Given the description of an element on the screen output the (x, y) to click on. 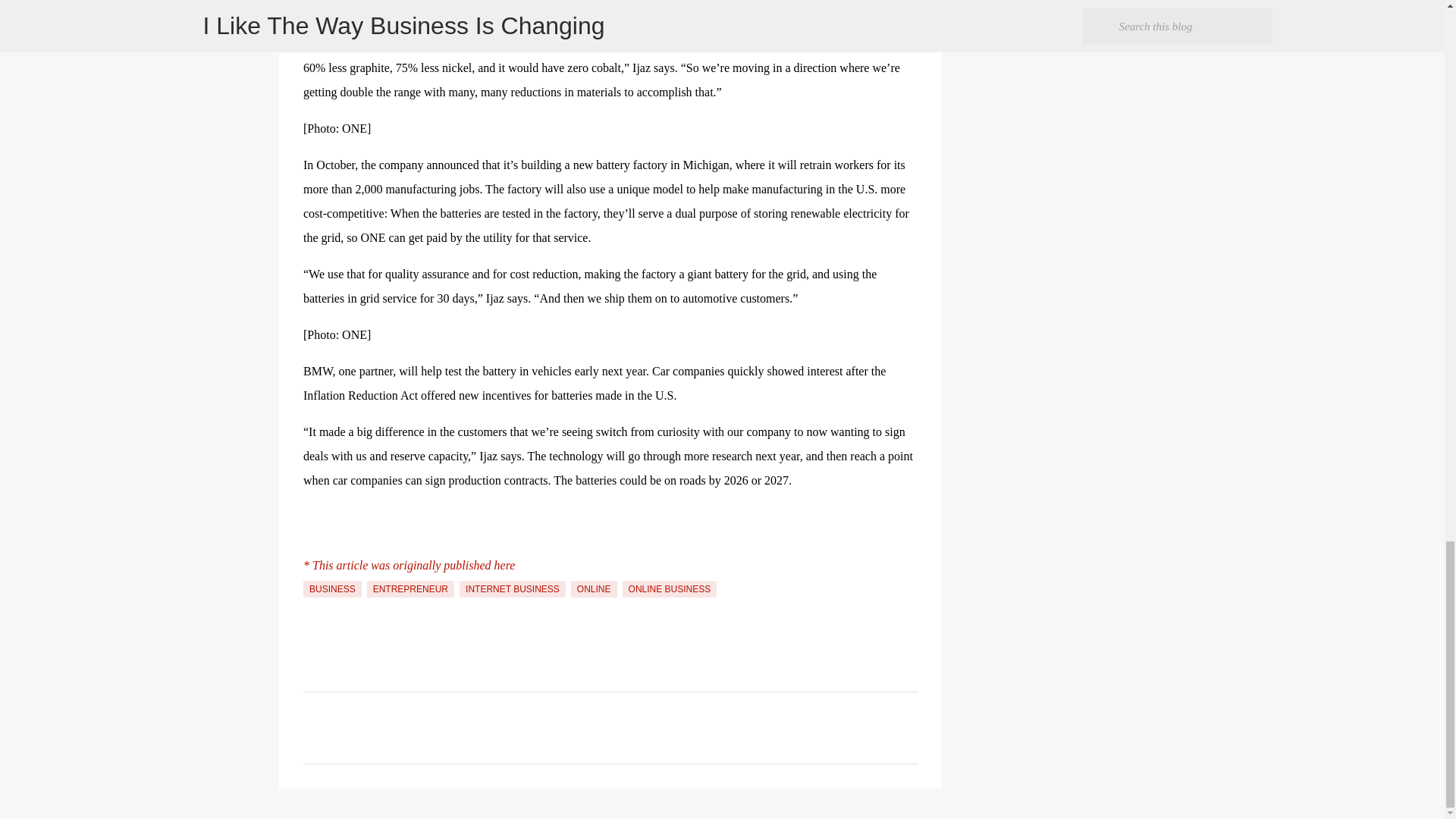
INTERNET BUSINESS (513, 588)
ONLINE (593, 588)
ENTREPRENEUR (410, 588)
ONLINE BUSINESS (670, 588)
BUSINESS (331, 588)
